Given the description of an element on the screen output the (x, y) to click on. 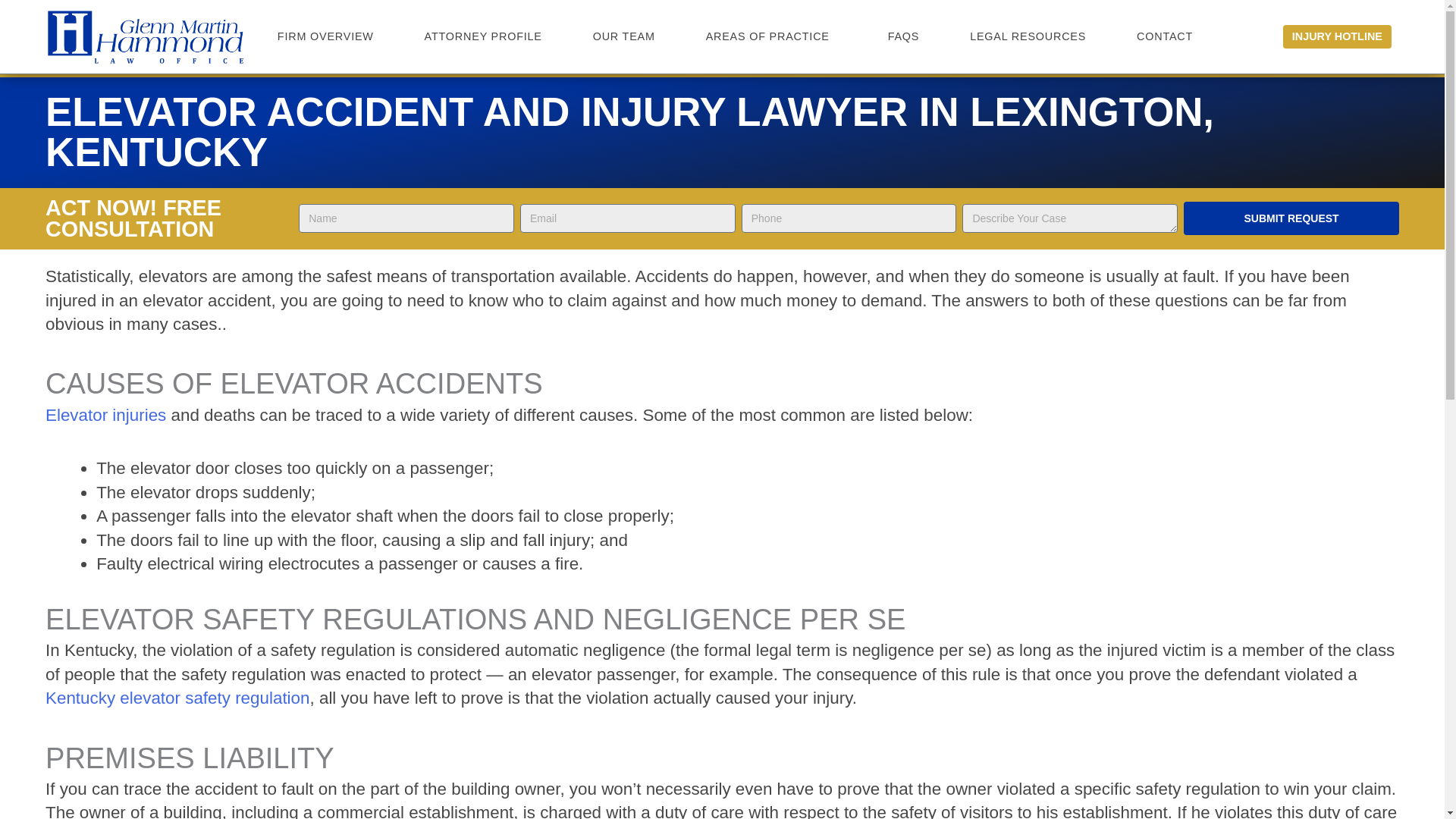
CONTACT (1164, 36)
INJURY HOTLINE (1336, 36)
FAQS (903, 36)
AREAS OF PRACTICE (771, 36)
ATTORNEY PROFILE (482, 36)
OUR TEAM (623, 36)
LEGAL RESOURCES (1028, 36)
FIRM OVERVIEW (324, 36)
